Given the description of an element on the screen output the (x, y) to click on. 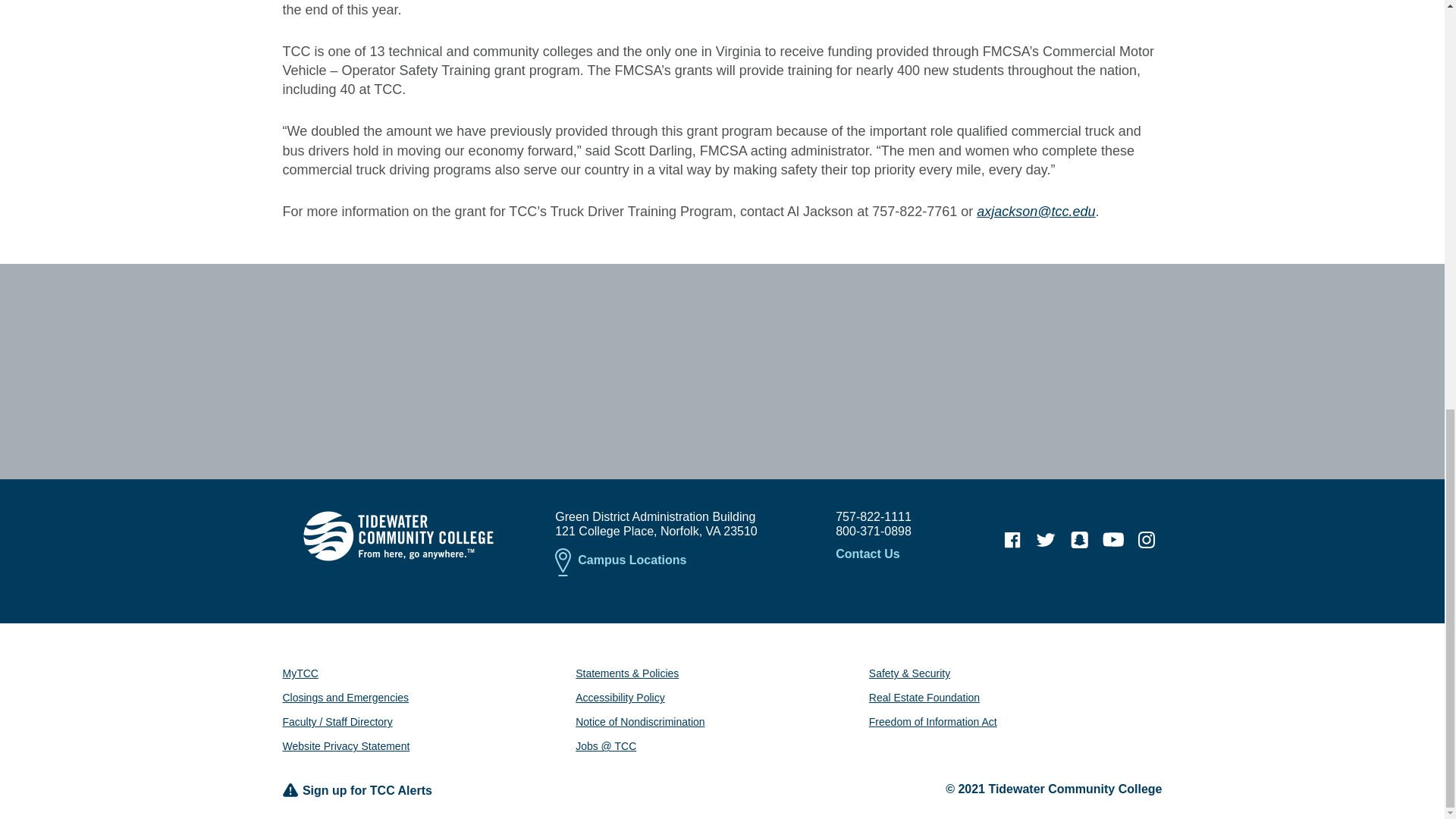
TCC on Facebook (1012, 539)
TCC on Snapchat (1079, 539)
Tidewater Community College (398, 535)
TCC on Twitter (1045, 539)
TCC on YouTube (1112, 539)
TCC on Instagram (1146, 539)
